Given the description of an element on the screen output the (x, y) to click on. 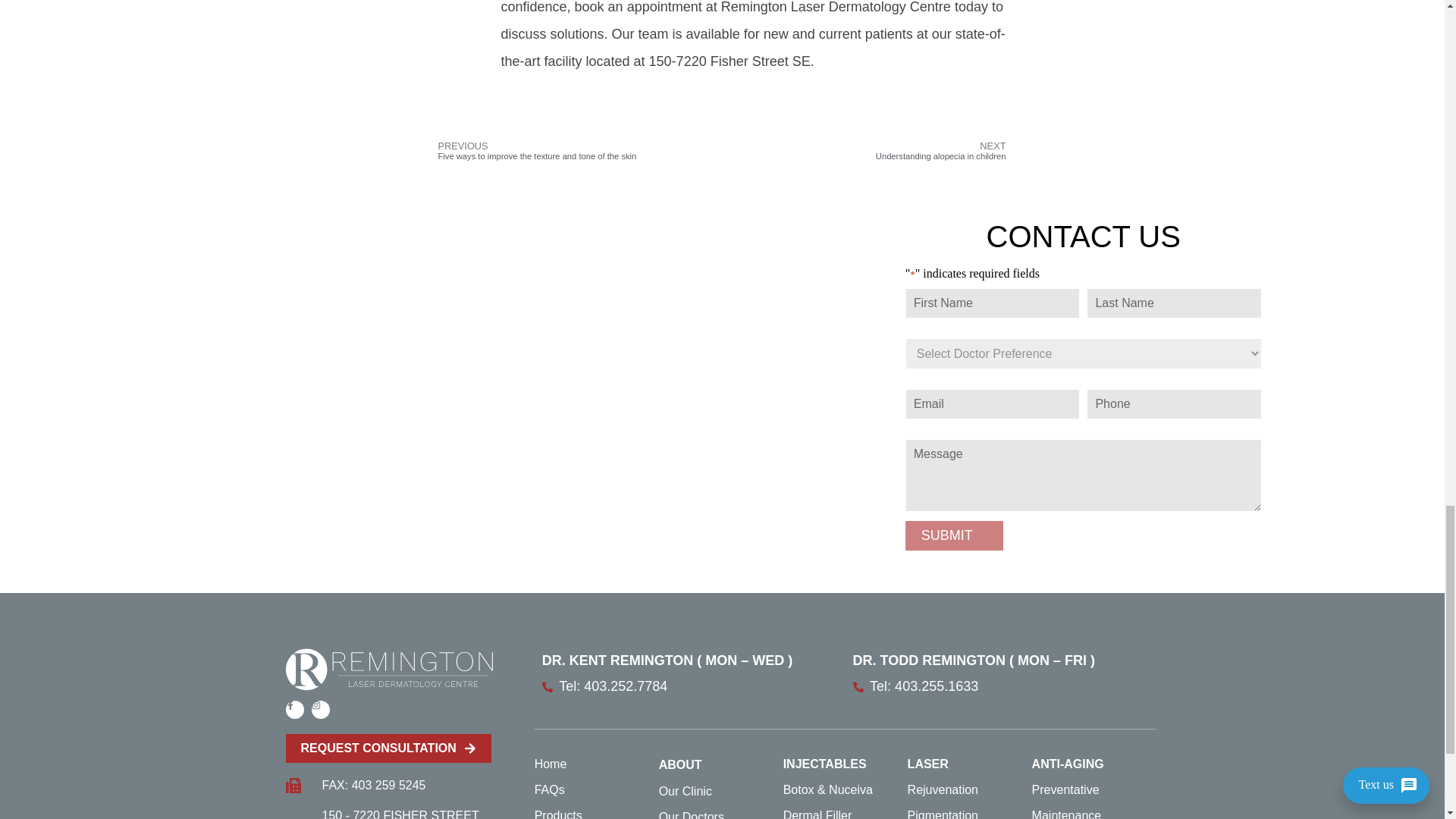
Submit (954, 535)
